Given the description of an element on the screen output the (x, y) to click on. 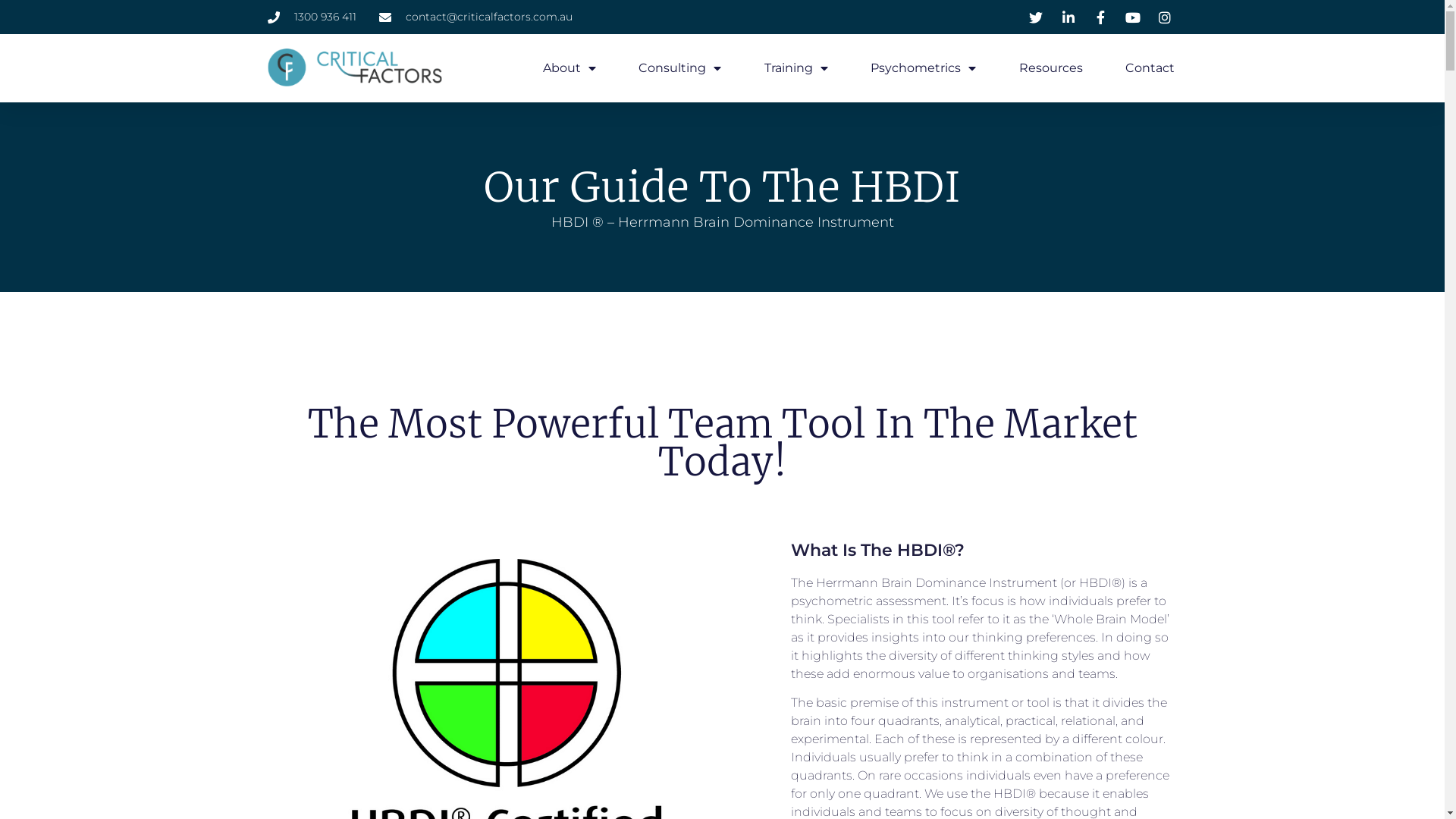
1300 936 411 Element type: text (310, 17)
About Element type: text (568, 67)
Training Element type: text (795, 67)
Contact Element type: text (1150, 67)
Resources Element type: text (1050, 67)
contact@criticalfactors.com.au Element type: text (475, 17)
Psychometrics Element type: text (923, 67)
Consulting Element type: text (680, 67)
